Given the description of an element on the screen output the (x, y) to click on. 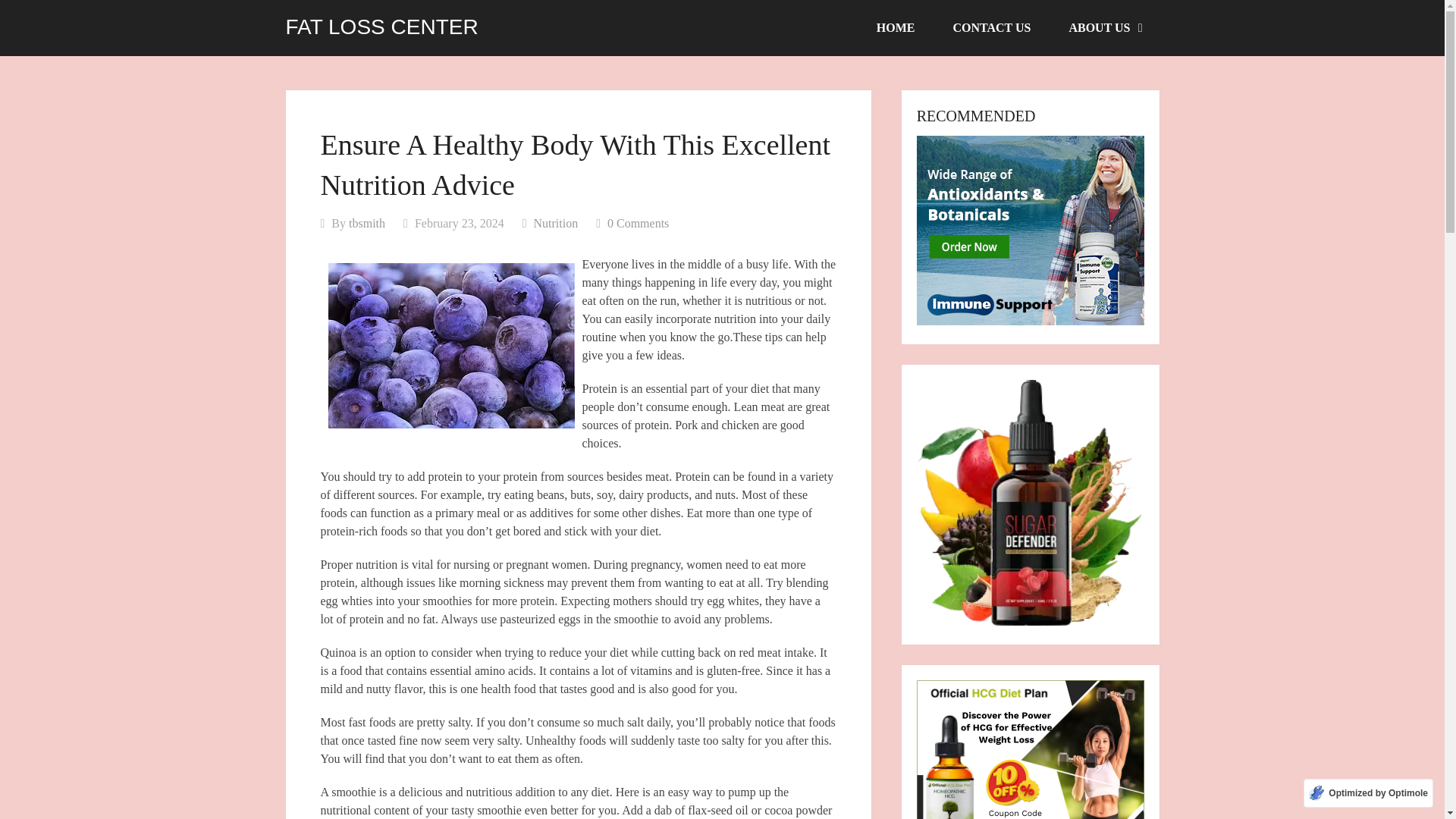
Nutrition (555, 223)
Ensure A Healthy Body With This Excellent Nutrition Advice (450, 345)
tbsmith (367, 223)
0 Comments (637, 223)
HOME (895, 28)
FAT LOSS CENTER (381, 26)
ABOUT US (1103, 28)
Posts by tbsmith (367, 223)
Optimized by Optimole (1367, 792)
CONTACT US (991, 28)
